Given the description of an element on the screen output the (x, y) to click on. 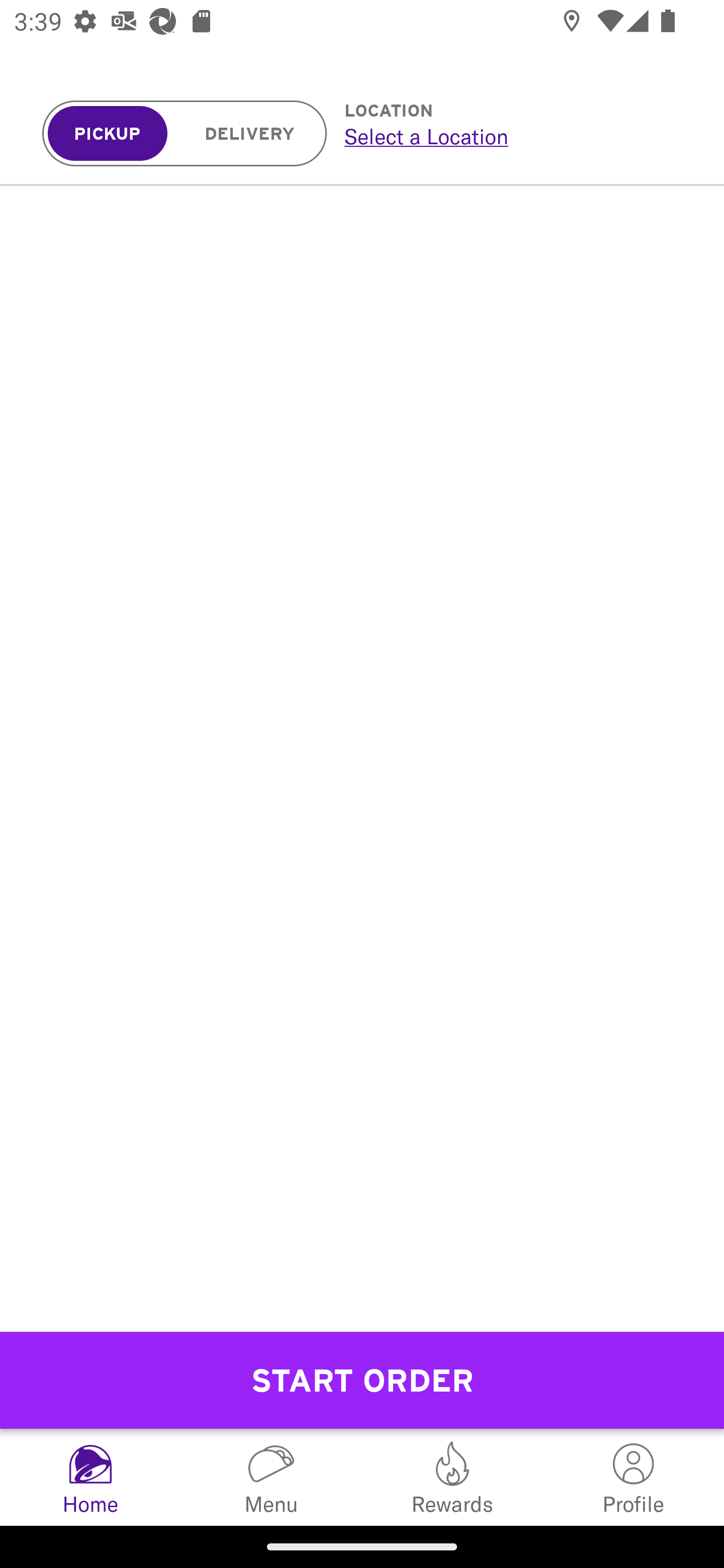
PICKUP (107, 133)
DELIVERY (249, 133)
Select a Location (511, 136)
START ORDER (362, 1379)
Home (90, 1476)
Menu (271, 1476)
Rewards (452, 1476)
My Info Profile (633, 1476)
